Given the description of an element on the screen output the (x, y) to click on. 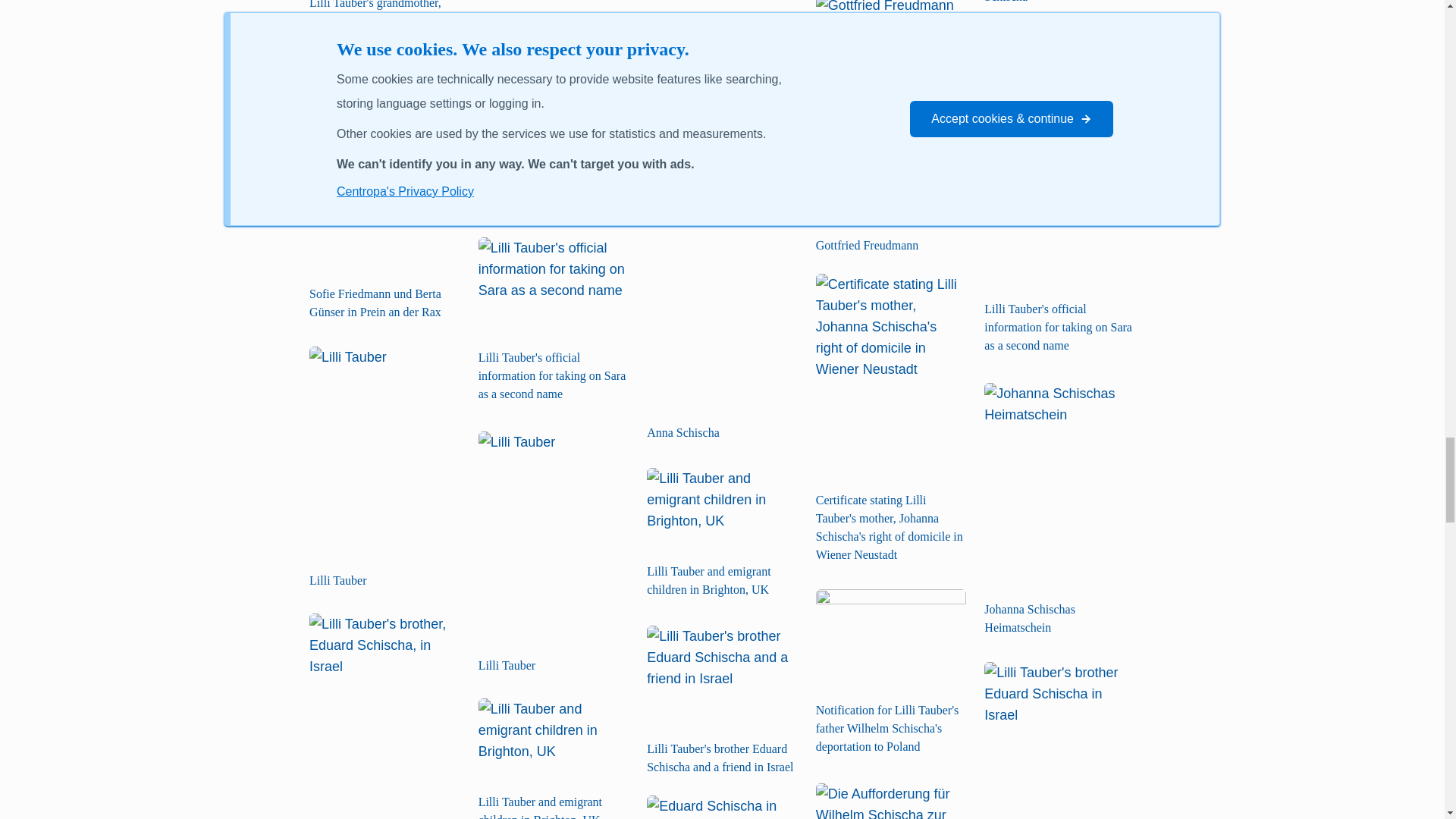
Lilli Tauber and emigrant children in Brighton, UK (553, 742)
